Given the description of an element on the screen output the (x, y) to click on. 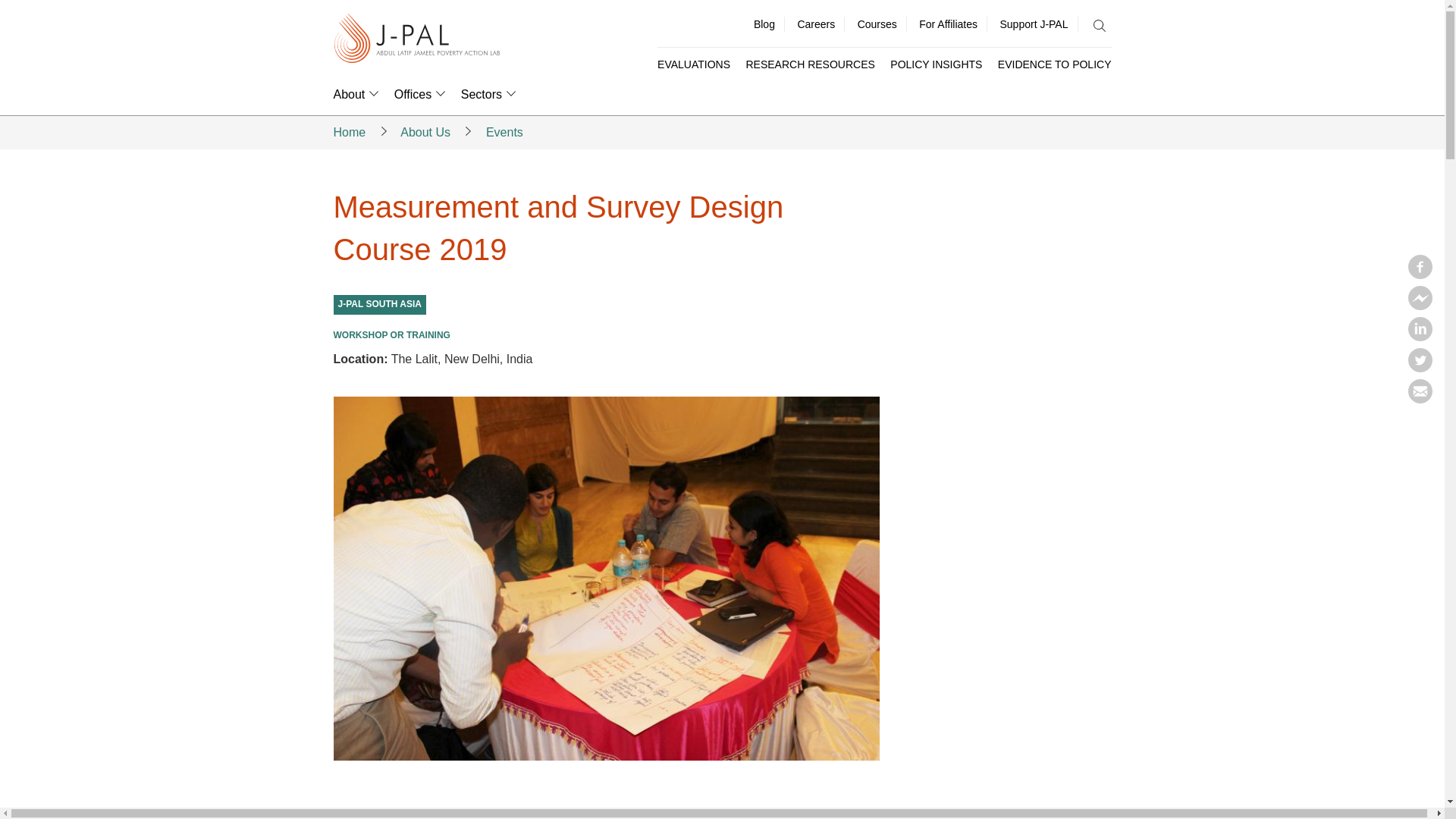
Facebook messenger (1419, 305)
Email (1419, 399)
Linkedin (1419, 336)
Facebook (1419, 274)
Twitter (1419, 367)
J-PAL (416, 39)
